Given the description of an element on the screen output the (x, y) to click on. 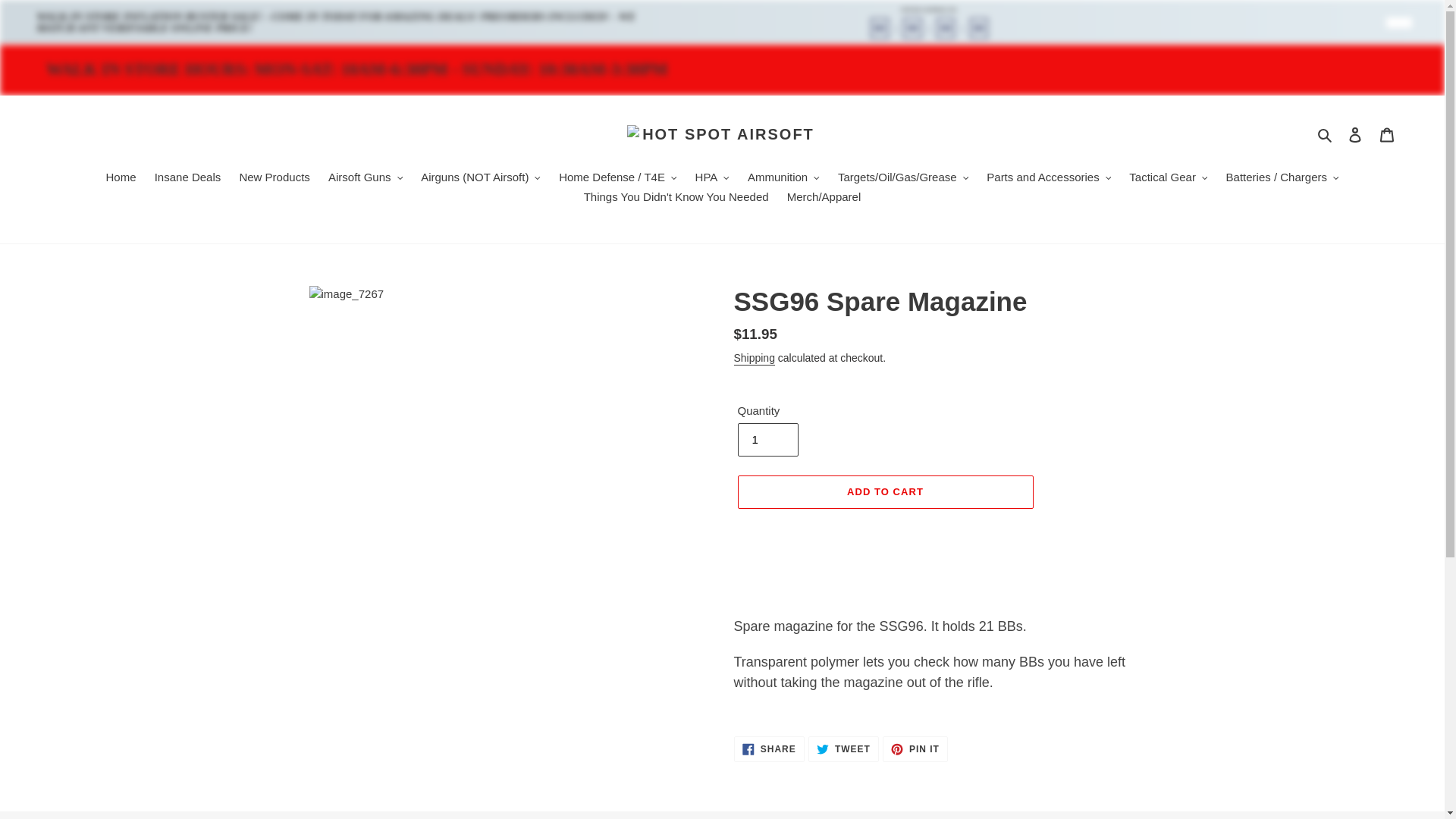
Log in (1355, 133)
Cart (1387, 133)
1 (766, 439)
Search (1326, 134)
